Given the description of an element on the screen output the (x, y) to click on. 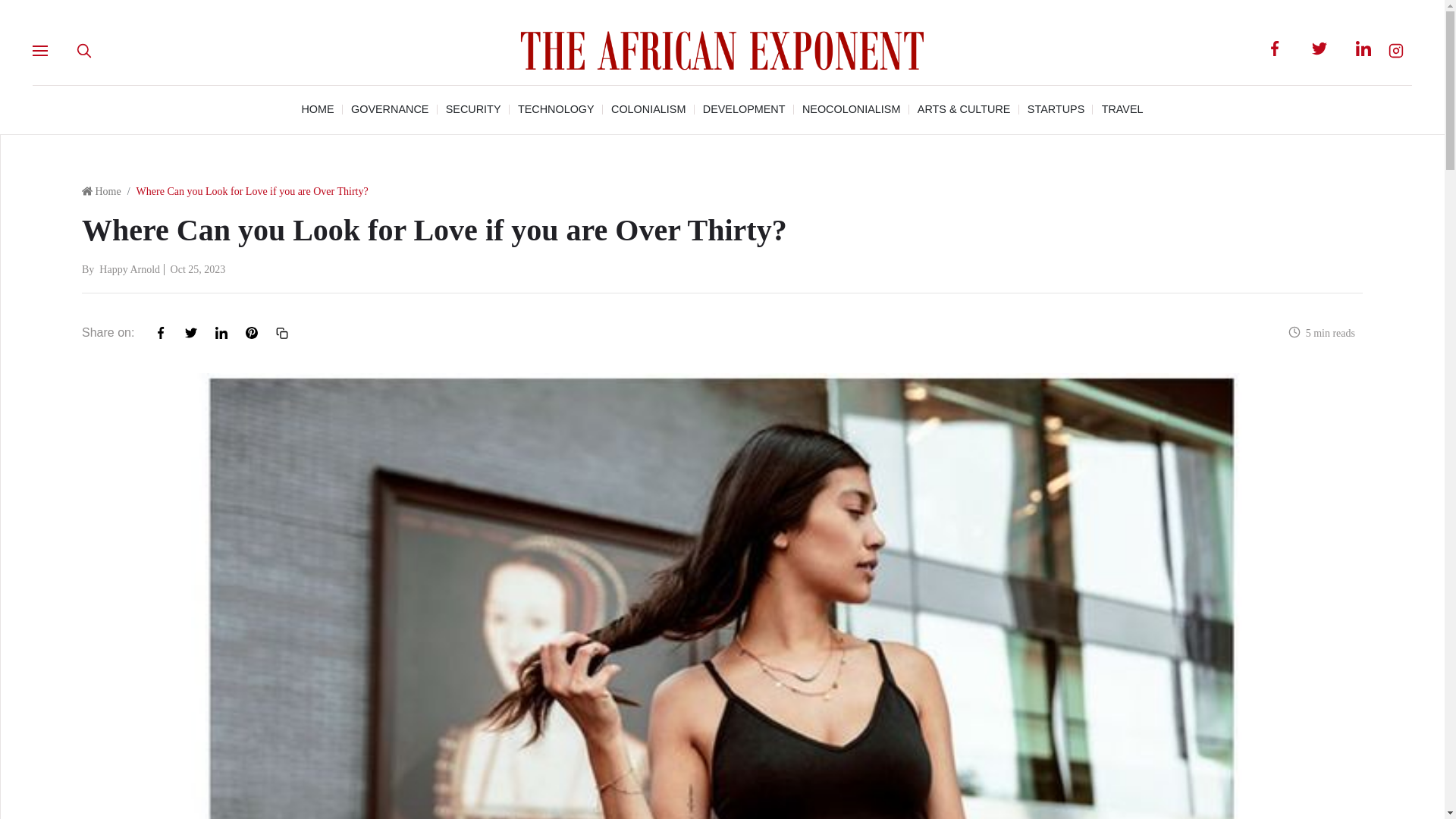
Happy Arnold (129, 269)
NEOCOLONIALISM (851, 109)
GOVERNANCE (389, 109)
TECHNOLOGY (556, 109)
SECURITY (472, 109)
TRAVEL (1122, 109)
HOME (317, 109)
STARTUPS (1055, 109)
Home (106, 191)
COLONIALISM (648, 109)
DEVELOPMENT (744, 109)
